Given the description of an element on the screen output the (x, y) to click on. 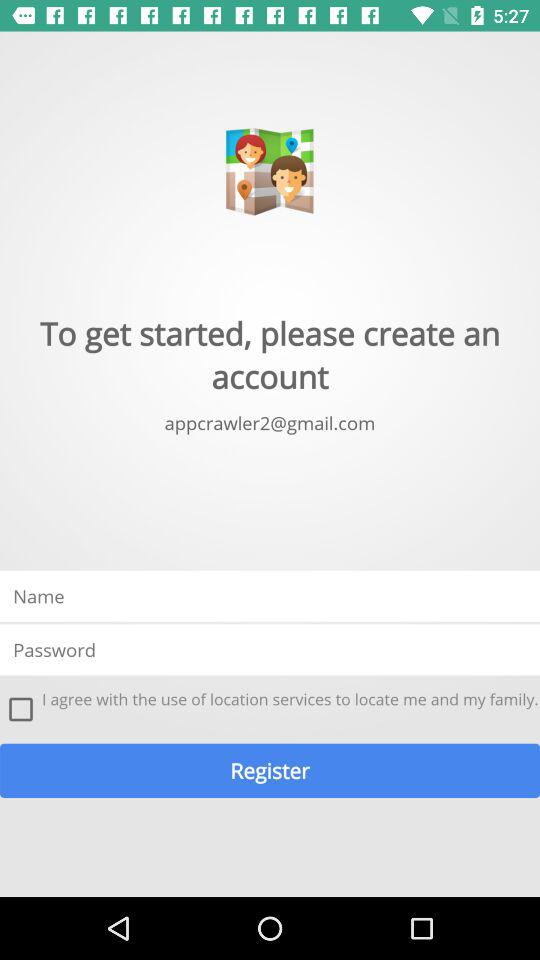
enter your password in the field (270, 649)
